Given the description of an element on the screen output the (x, y) to click on. 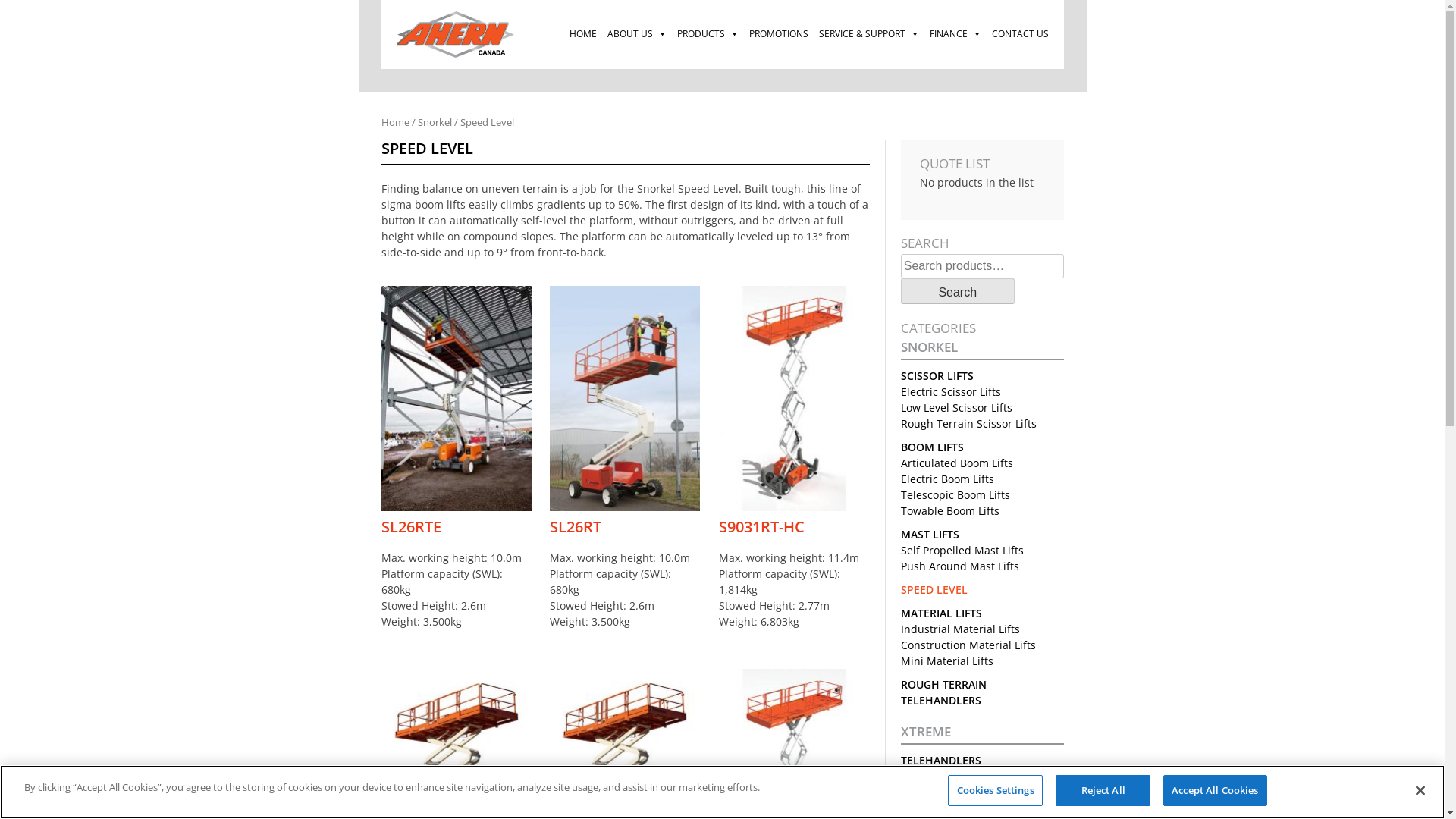
Electric Boom Lifts Element type: text (947, 478)
HOME Element type: text (583, 33)
Low Level Scissor Lifts Element type: text (956, 407)
High Pivot Roller Boom Element type: text (958, 807)
Cookies Settings Element type: text (994, 790)
Compact Roller Boom Element type: text (955, 775)
PROMOTIONS Element type: text (777, 33)
Construction Material Lifts Element type: text (967, 644)
Search Element type: text (957, 291)
Telescopic Boom Lifts Element type: text (955, 494)
Electric Scissor Lifts Element type: text (950, 391)
FINANCE Element type: text (954, 33)
Reject All Element type: text (1102, 790)
High Capacity Roller Boom Element type: text (967, 791)
PRODUCTS Element type: text (707, 33)
Self Propelled Mast Lifts Element type: text (961, 549)
SCISSOR LIFTS Element type: text (936, 375)
ABOUT US Element type: text (636, 33)
Mini Material Lifts Element type: text (946, 660)
ROUGH TERRAIN TELEHANDLERS Element type: text (943, 692)
SNORKEL Element type: text (981, 349)
Towable Boom Lifts Element type: text (949, 510)
S9031RT-HC Element type: text (793, 526)
Industrial Material Lifts Element type: text (959, 628)
SPEED LEVEL Element type: text (933, 589)
MAST LIFTS Element type: text (929, 534)
Push Around Mast Lifts Element type: text (959, 565)
Snorkel Element type: text (434, 121)
Rough Terrain Scissor Lifts Element type: text (968, 423)
Accept All Cookies Element type: text (1214, 790)
SERVICE & SUPPORT Element type: text (867, 33)
Home Element type: text (394, 121)
TELEHANDLERS Element type: text (940, 760)
MATERIAL LIFTS Element type: text (941, 612)
XTREME Element type: text (981, 733)
BOOM LIFTS Element type: text (931, 446)
Articulated Boom Lifts Element type: text (956, 462)
SL26RT Element type: text (624, 526)
SL26RTE Element type: text (455, 526)
Skip to content Element type: text (357, 0)
CONTACT US Element type: text (1019, 33)
